Given the description of an element on the screen output the (x, y) to click on. 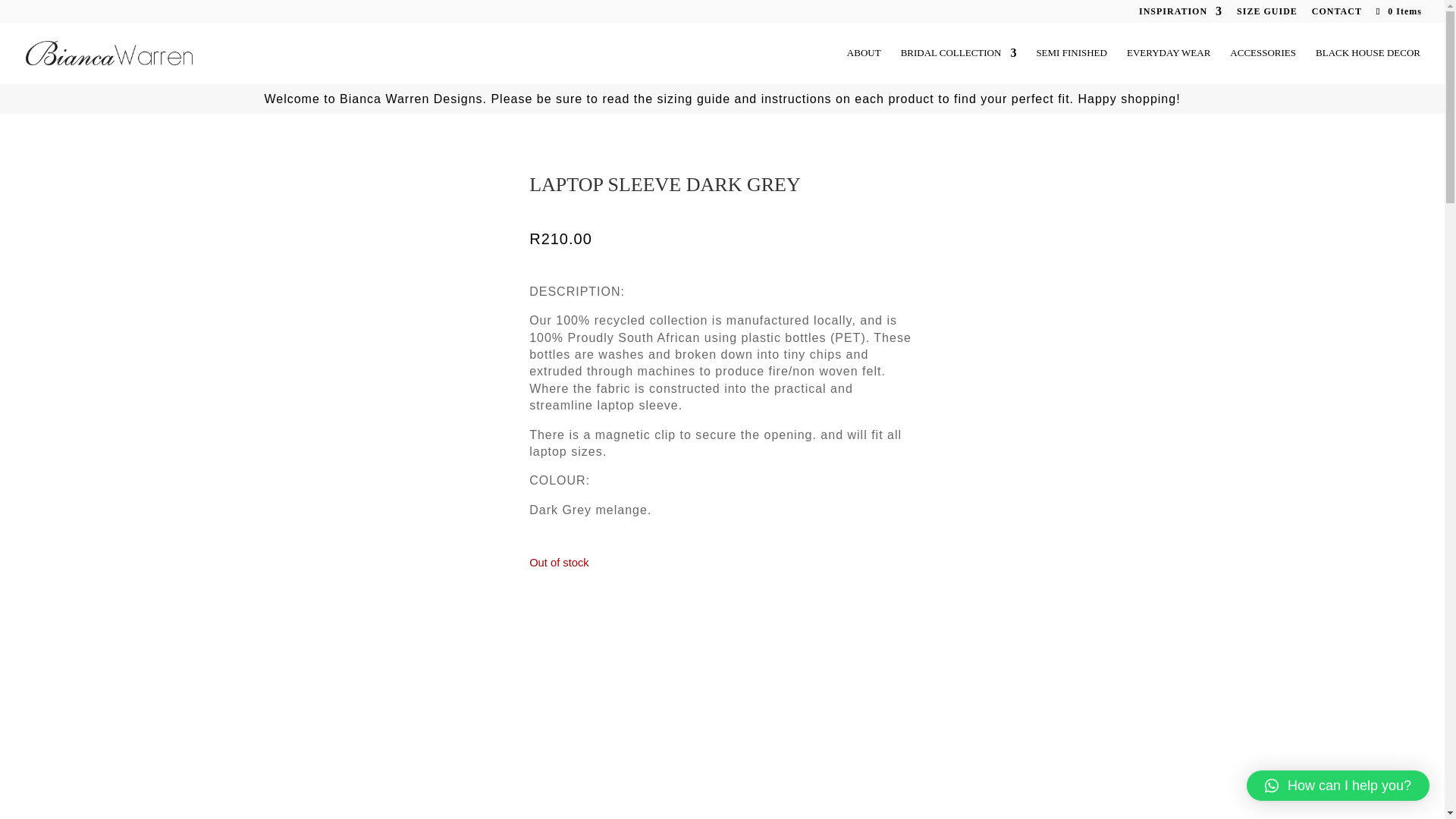
EVERYDAY WEAR (1167, 65)
ABOUT (863, 65)
CONTACT (1336, 14)
BRIDAL COLLECTION (958, 65)
0 Items (1397, 10)
How can I help you? (1337, 785)
BLACK HOUSE DECOR (1368, 65)
INSPIRATION (1180, 14)
ACCESSORIES (1262, 65)
SEMI FINISHED (1070, 65)
